Given the description of an element on the screen output the (x, y) to click on. 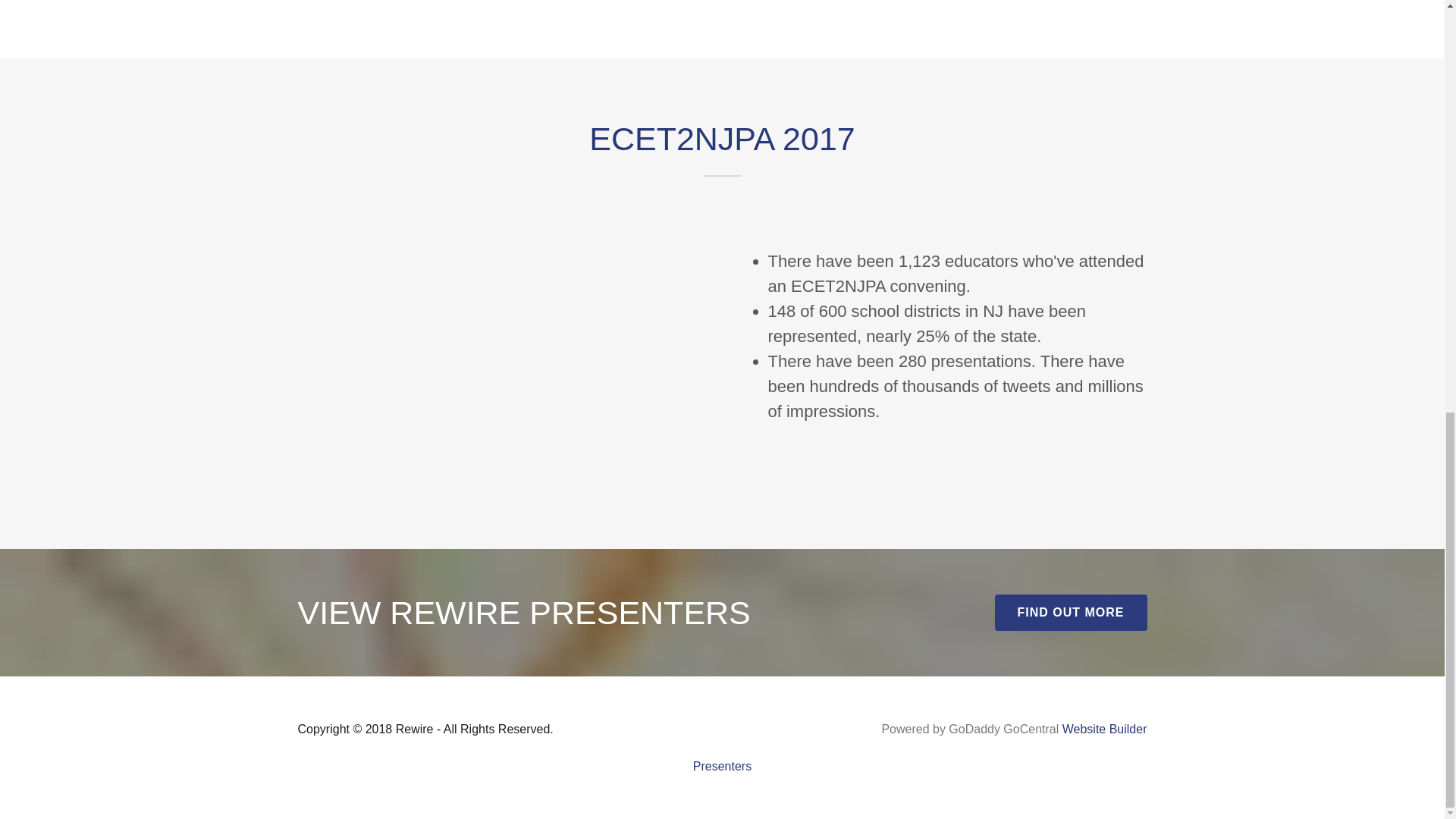
Website Builder (1104, 728)
Presenters (721, 766)
FIND OUT MORE (1070, 612)
